Given the description of an element on the screen output the (x, y) to click on. 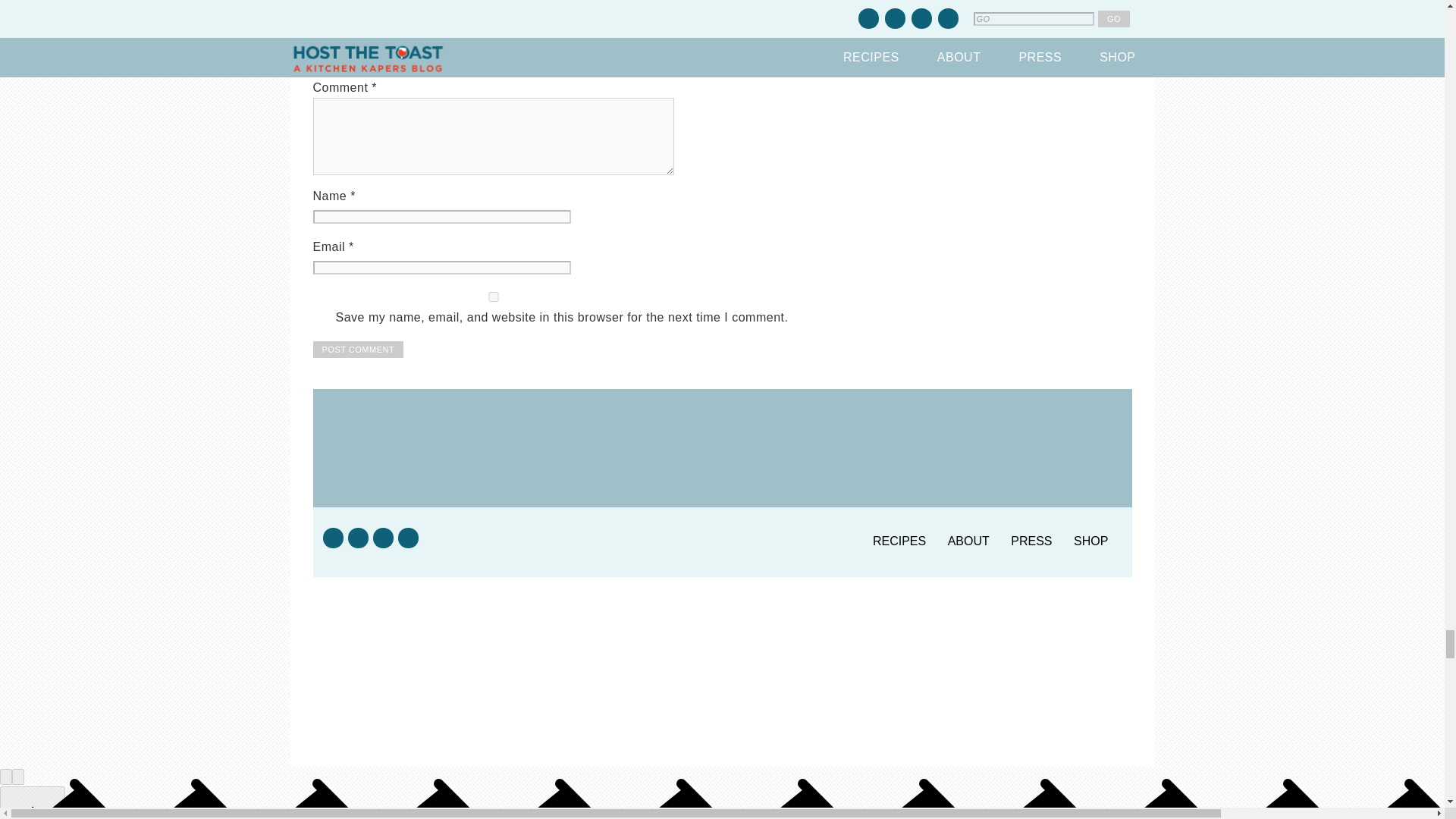
Post Comment (358, 349)
yes (492, 296)
